Given the description of an element on the screen output the (x, y) to click on. 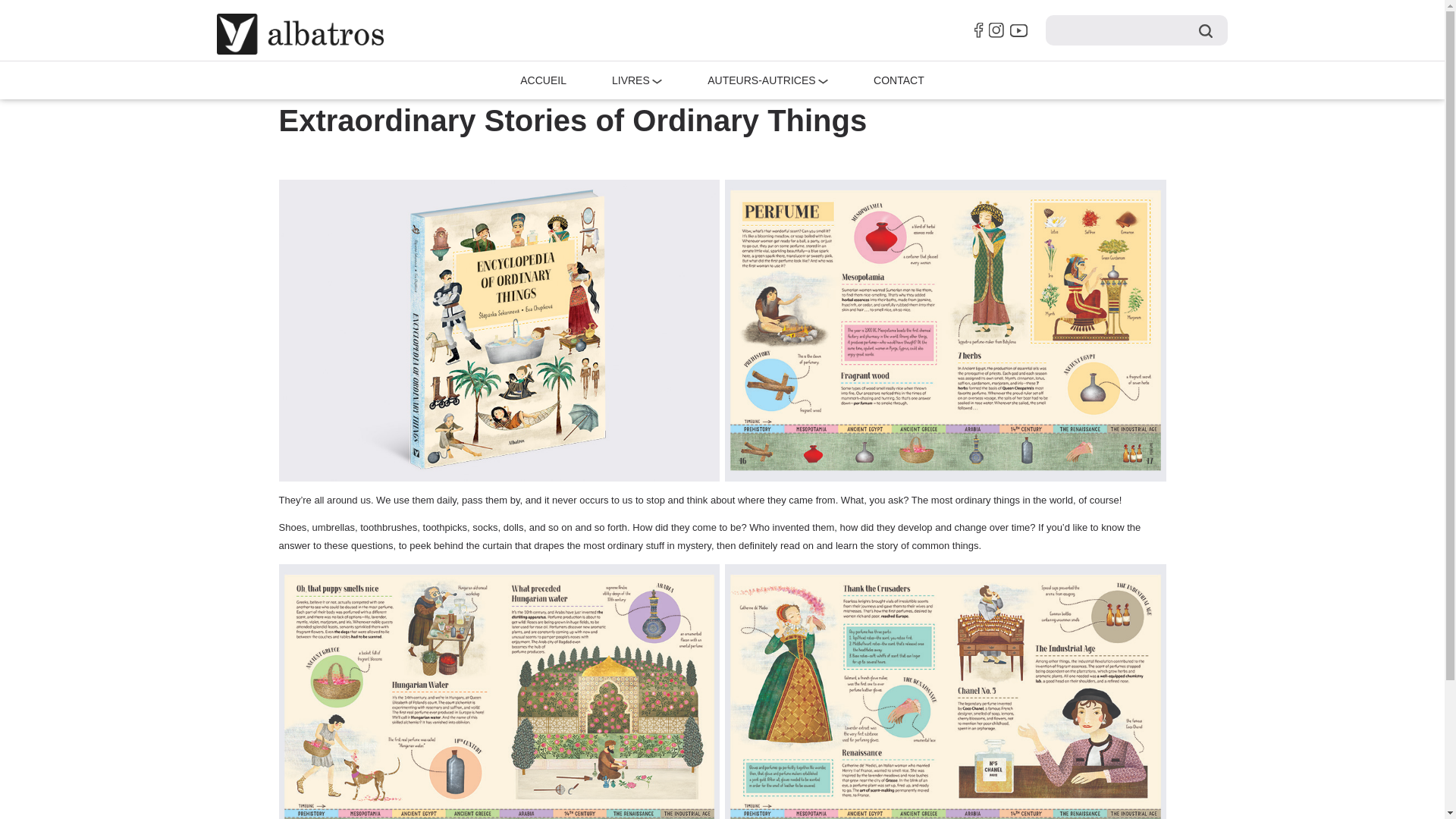
Search (1205, 30)
LIVRES (630, 80)
ACCUEIL (542, 80)
Search (1205, 30)
AUTEURS-AUTRICES (761, 80)
CONTACT (898, 80)
